Given the description of an element on the screen output the (x, y) to click on. 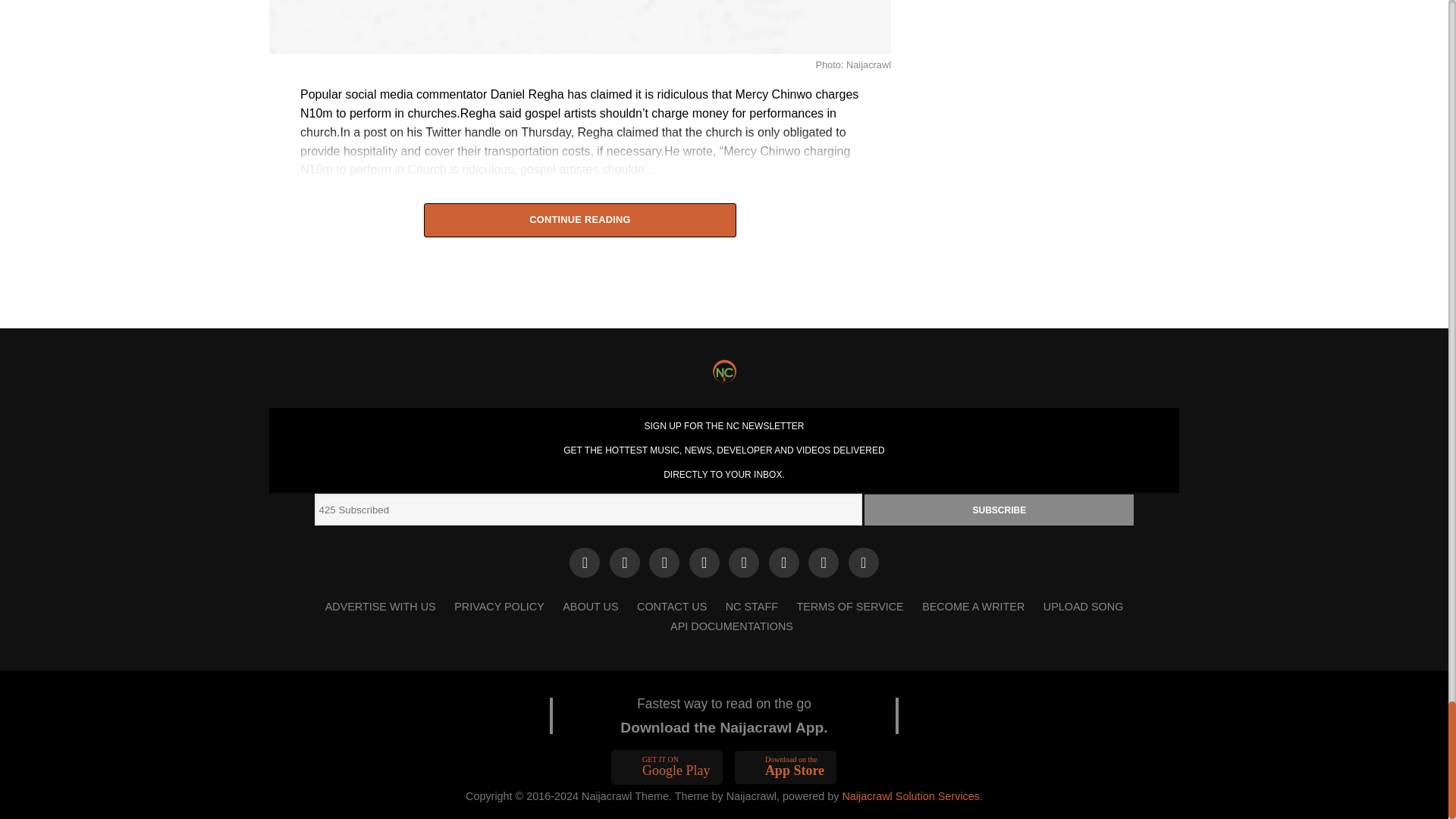
App Store (785, 767)
Subscribe (999, 509)
Google Play (667, 767)
